Given the description of an element on the screen output the (x, y) to click on. 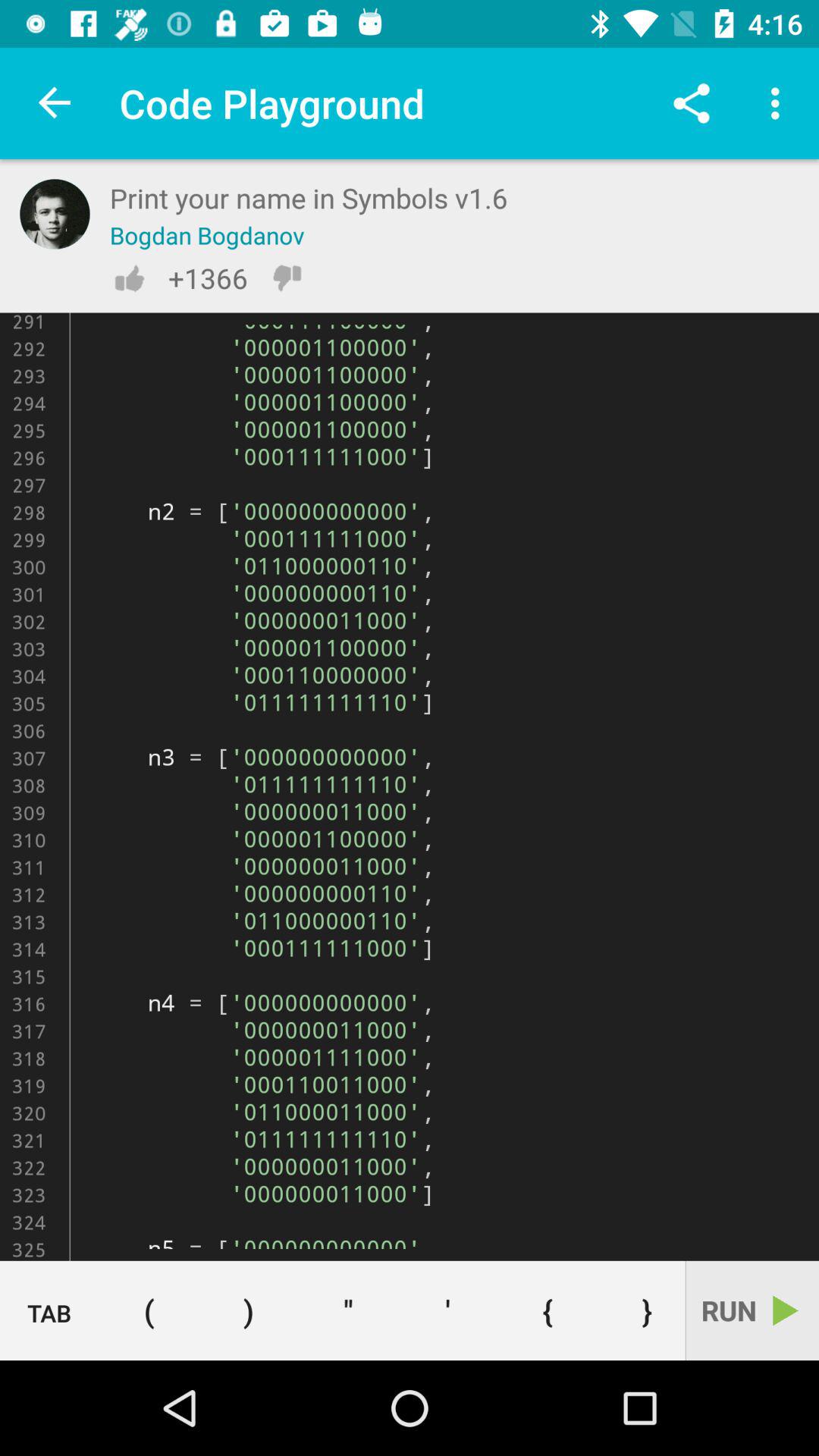
dislike (286, 277)
